Given the description of an element on the screen output the (x, y) to click on. 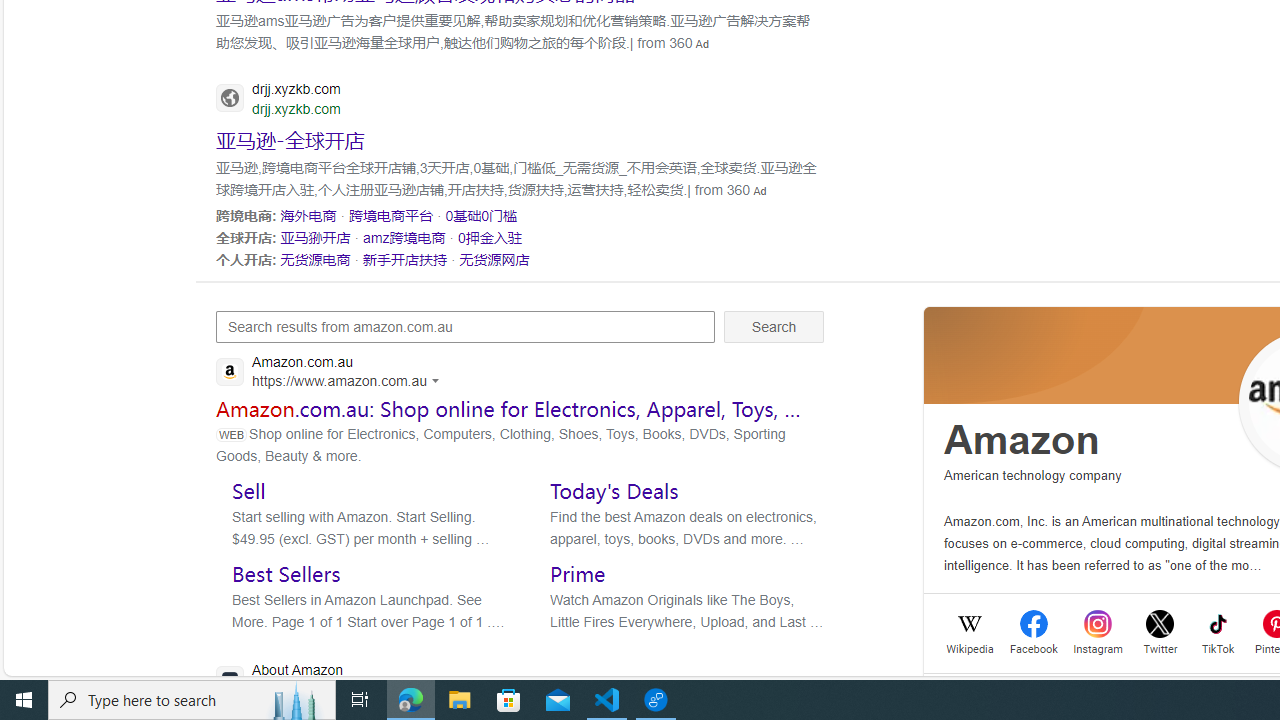
TikTok (1217, 646)
Global web icon (229, 679)
Microsoft Edge - 1 running window (411, 699)
Sell (248, 489)
SERP,5574 (494, 259)
File Explorer (460, 699)
Visual Studio Code - 1 running window (607, 699)
SERP,5566 (308, 215)
SERP,5570 (404, 237)
SERP,5567 (391, 215)
Search results from amazon.com.au (465, 326)
SERP,5569 (315, 237)
SERP,5572 (315, 259)
